Given the description of an element on the screen output the (x, y) to click on. 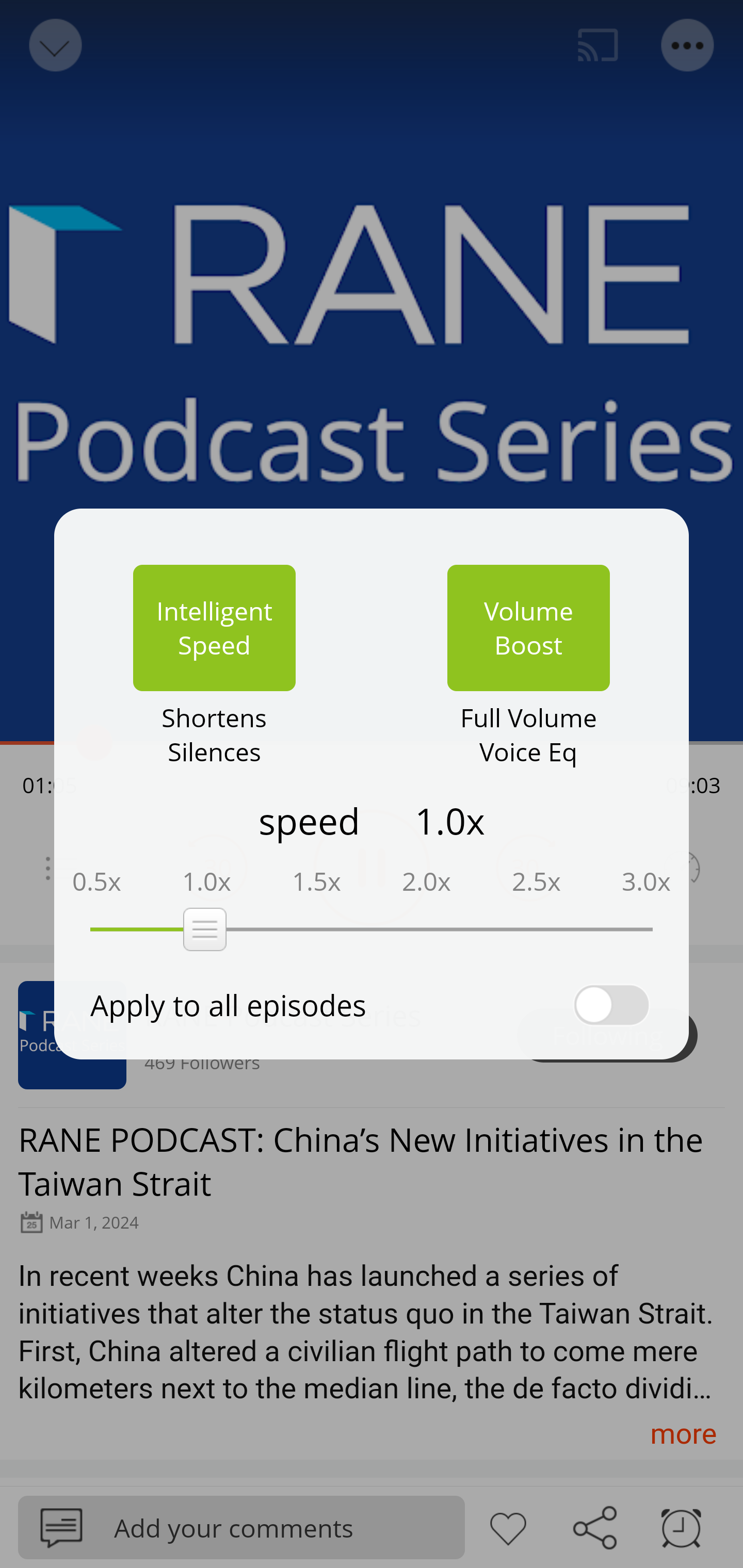
Intelligent
Speed (213, 627)
Volume
Boost (528, 627)
